Given the description of an element on the screen output the (x, y) to click on. 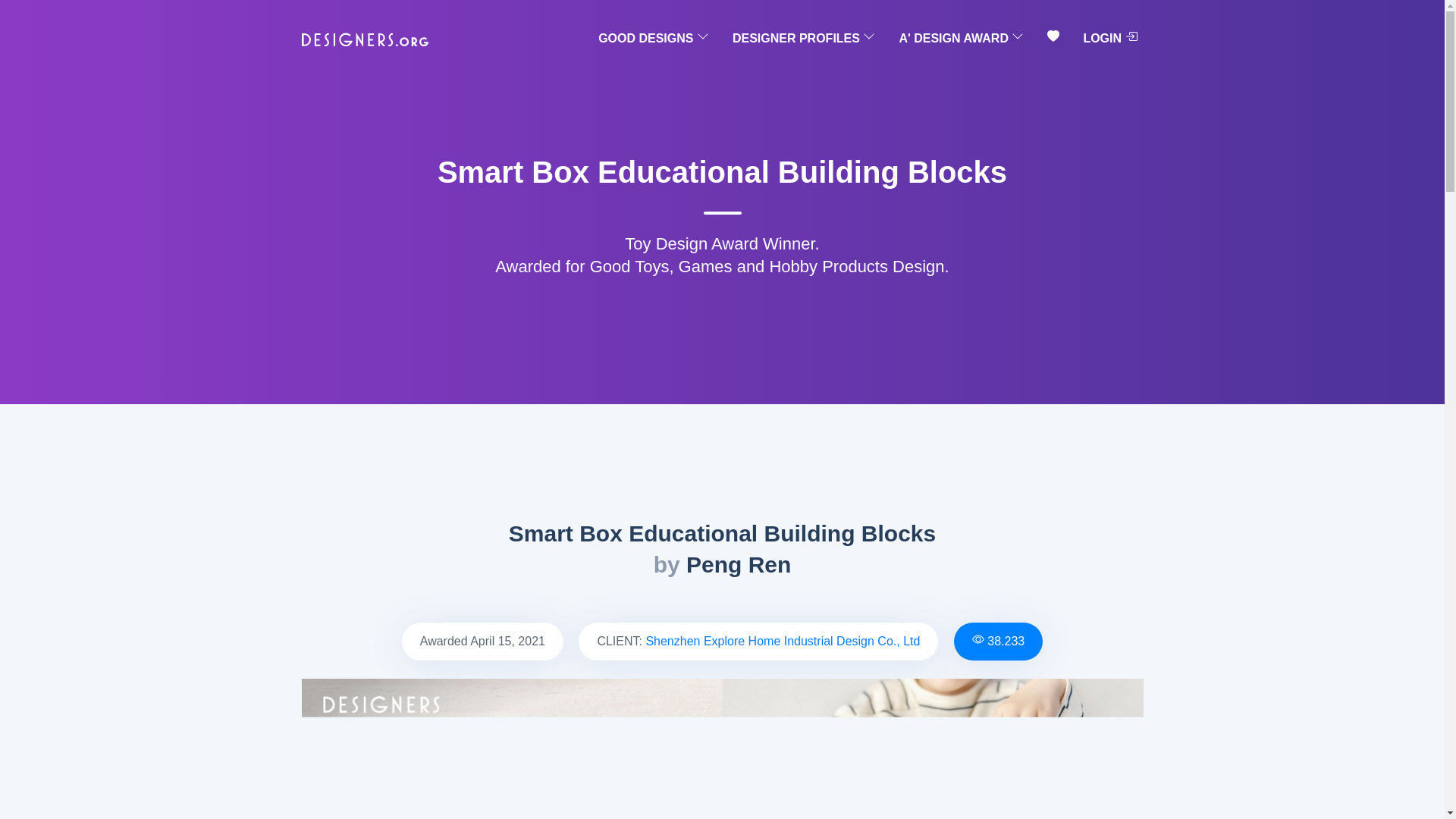
A' DESIGN AWARD (960, 38)
Estimated Number of Design Views (1006, 640)
GOOD DESIGNS (653, 38)
DESIGNER PROFILES (803, 38)
